Given the description of an element on the screen output the (x, y) to click on. 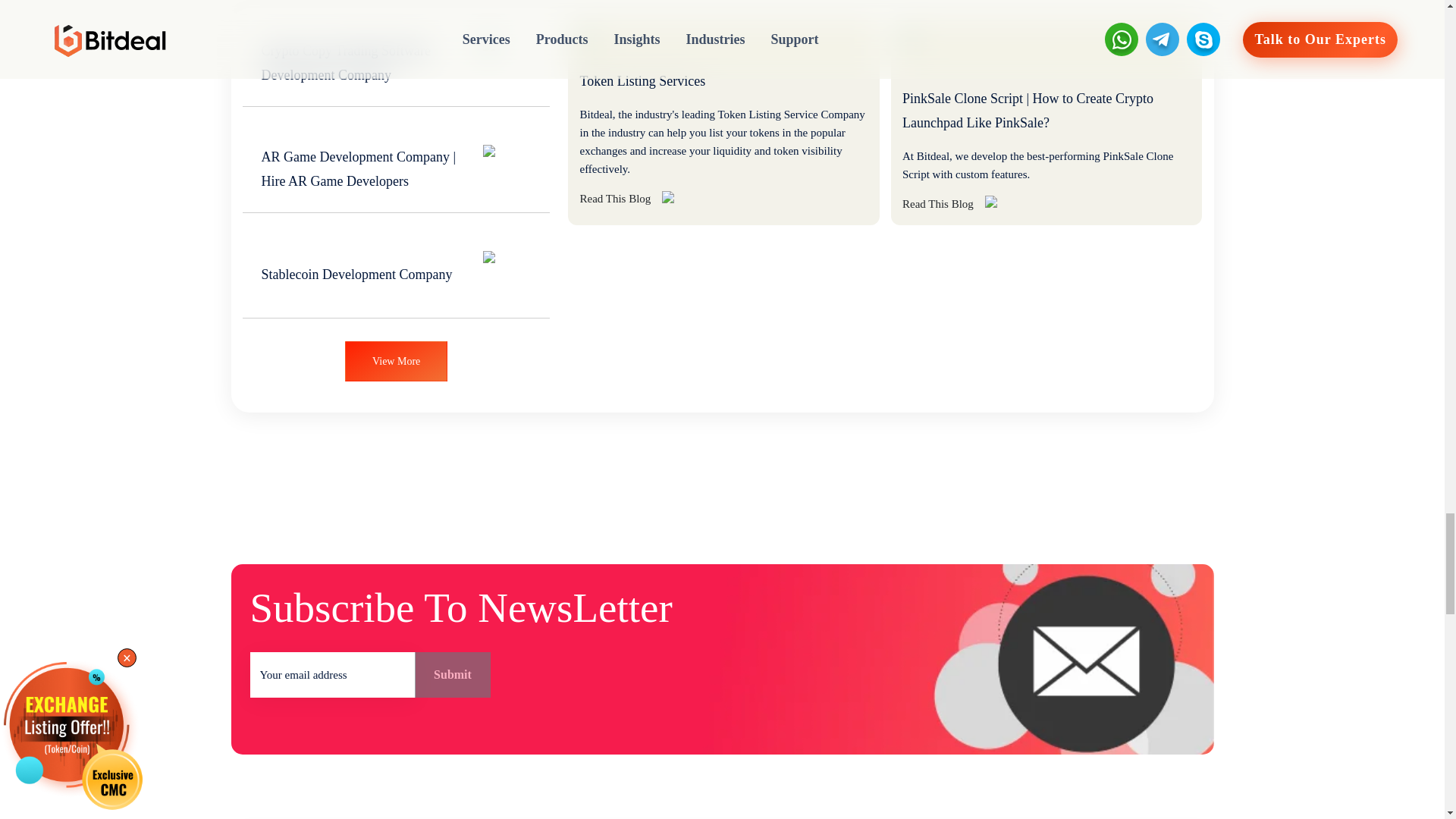
Crypto Copy Trading Software Development Company (396, 56)
Token Listing Services (641, 34)
